Given the description of an element on the screen output the (x, y) to click on. 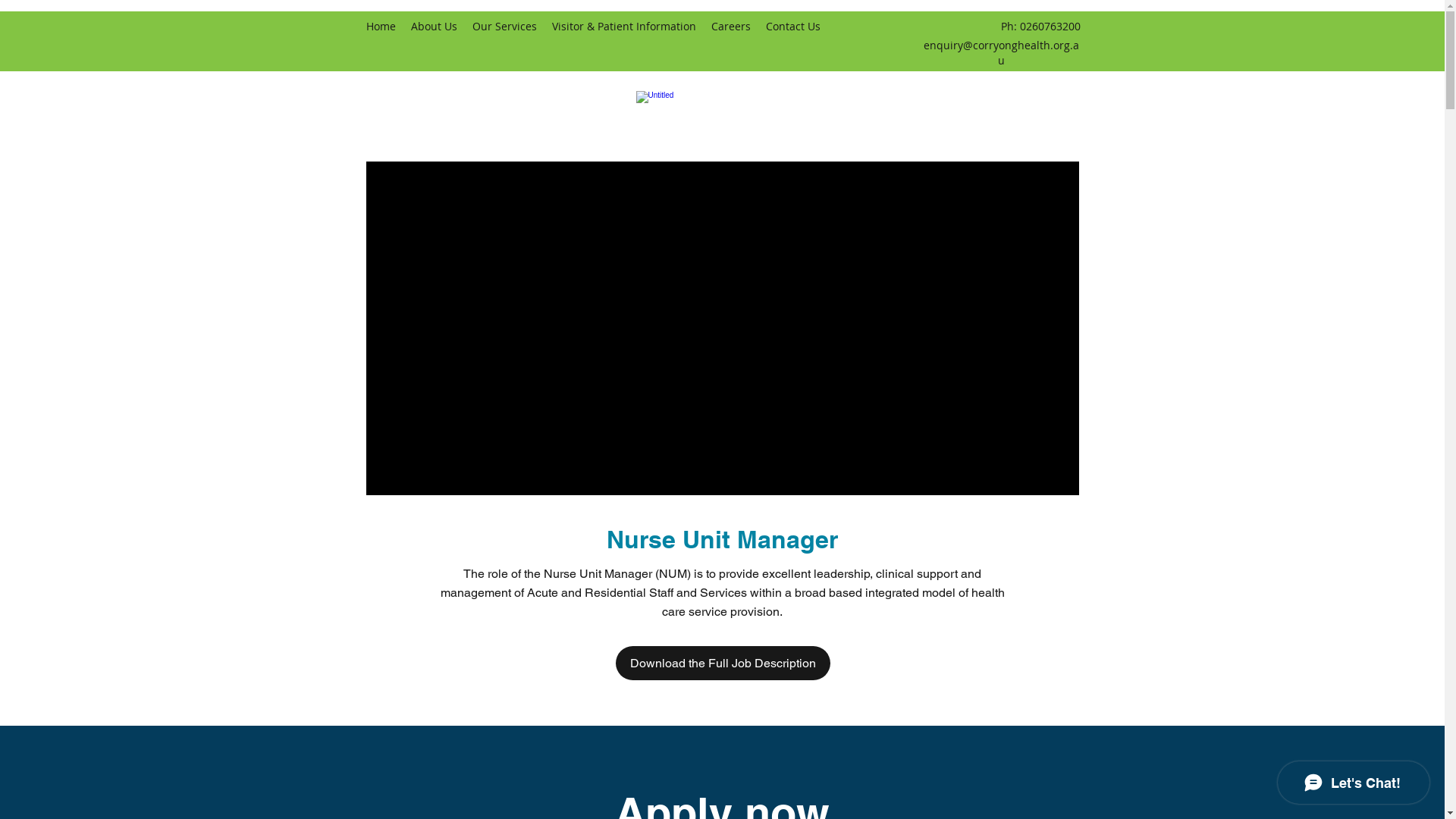
Our Services Element type: text (503, 26)
Home Element type: text (379, 26)
Careers Element type: text (730, 26)
Download the Full Job Description Element type: text (722, 663)
Contact Us Element type: text (793, 26)
About Us Element type: text (433, 26)
enquiry@corryonghealth.org.au Element type: text (1001, 52)
